Given the description of an element on the screen output the (x, y) to click on. 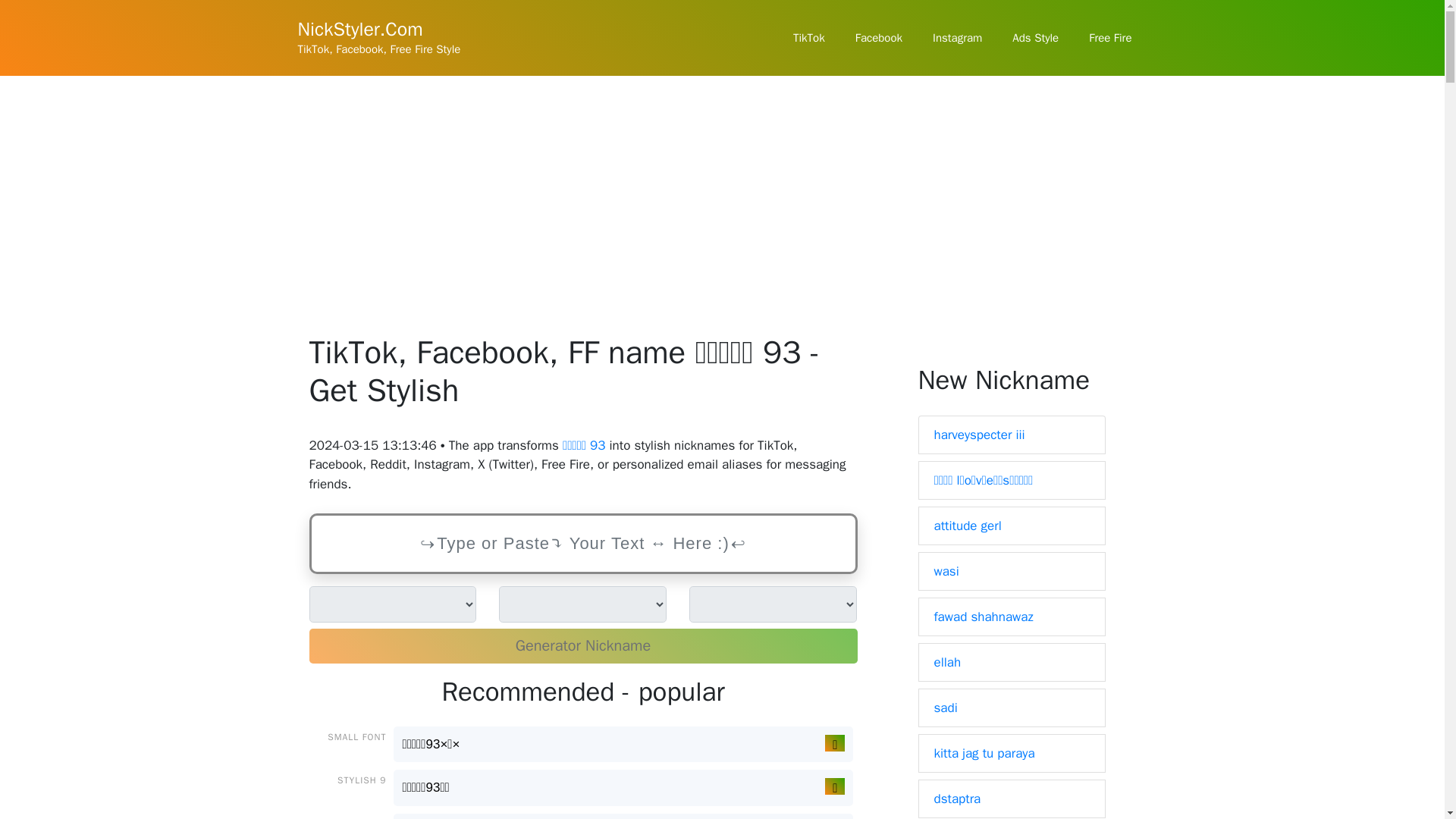
Instagram (957, 37)
Facebook (878, 37)
Free Fire (1110, 37)
Ads Style (1035, 37)
Generator Nickname (582, 645)
TikTok (808, 37)
NickStyler.Com (359, 28)
